Given the description of an element on the screen output the (x, y) to click on. 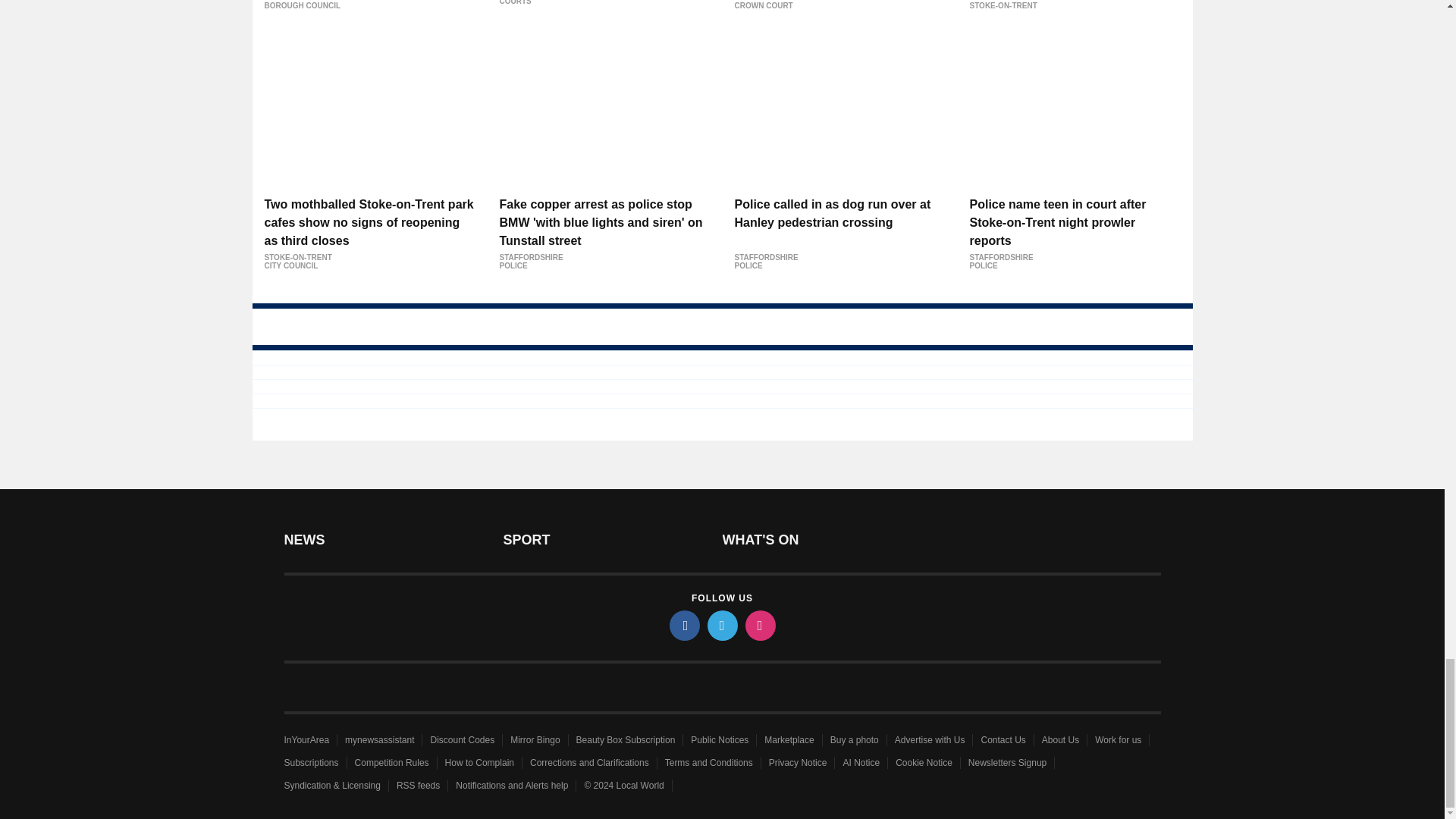
twitter (721, 625)
facebook (683, 625)
instagram (759, 625)
